Given the description of an element on the screen output the (x, y) to click on. 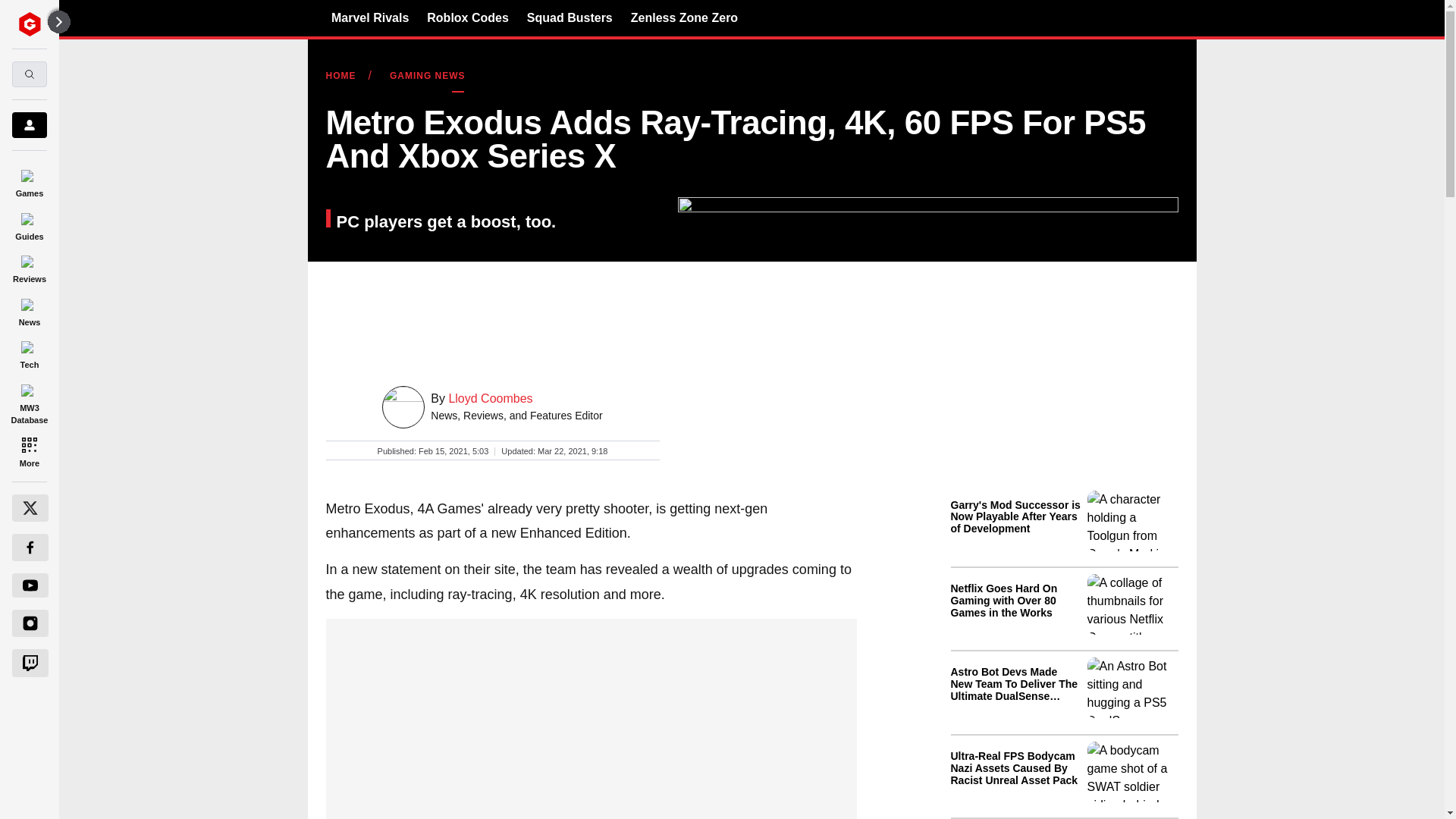
More (28, 450)
Marvel Rivals (370, 18)
Squad Busters (569, 18)
Reviews (28, 266)
Guides (28, 224)
Zenless Zone Zero (684, 18)
Roblox Codes (467, 18)
Tech (28, 352)
News (28, 309)
Games (28, 180)
